Given the description of an element on the screen output the (x, y) to click on. 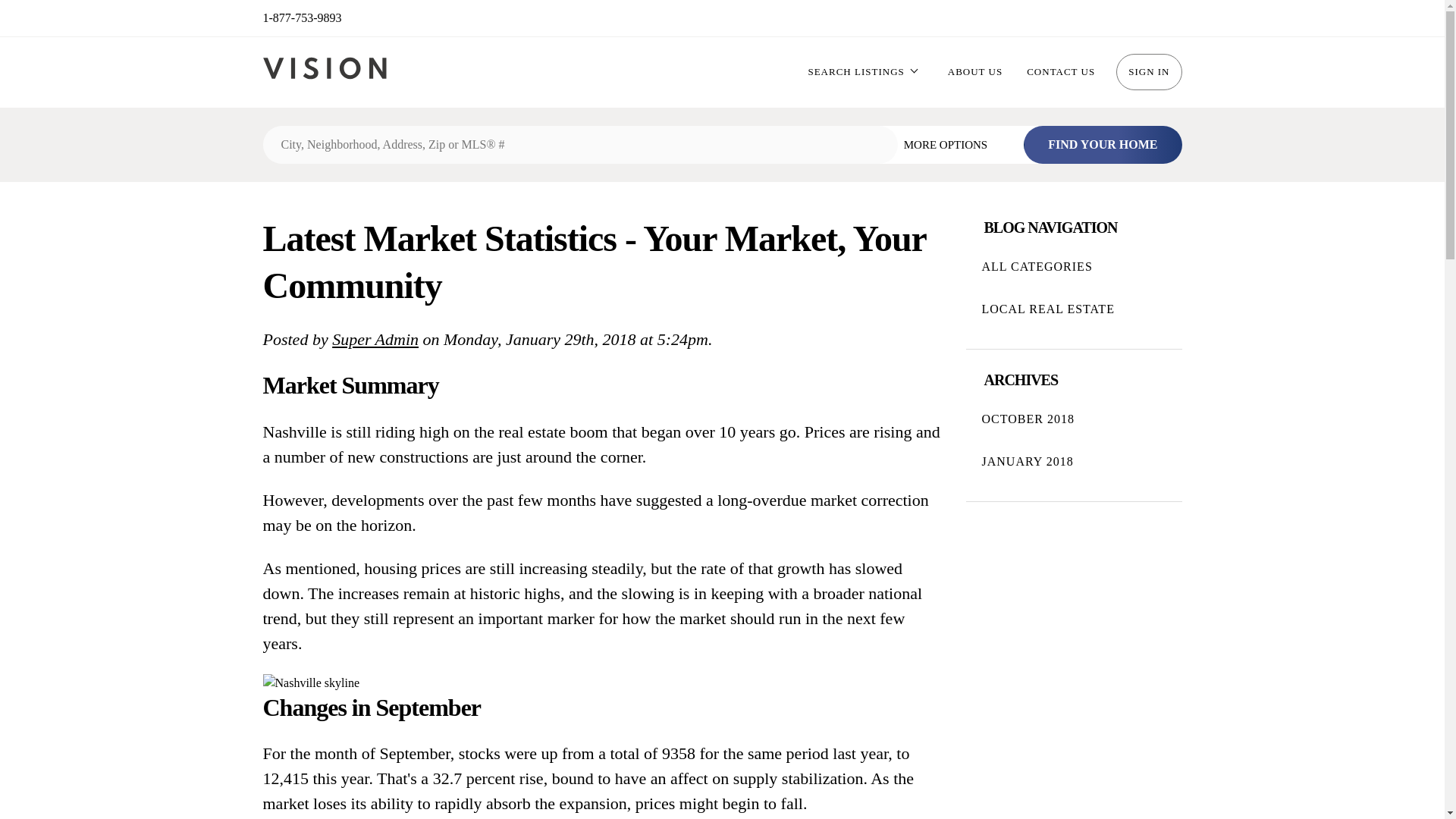
MORE OPTIONS (957, 144)
1-877-753-9893 (301, 17)
FIND YOUR HOME (1101, 144)
Super Admin (375, 339)
CONTACT US (1060, 72)
ABOUT US (975, 72)
SEARCH LISTINGS (854, 72)
JANUARY 2018 (1074, 461)
Sign in to your account (1148, 72)
OCTOBER 2018 (1074, 419)
